Given the description of an element on the screen output the (x, y) to click on. 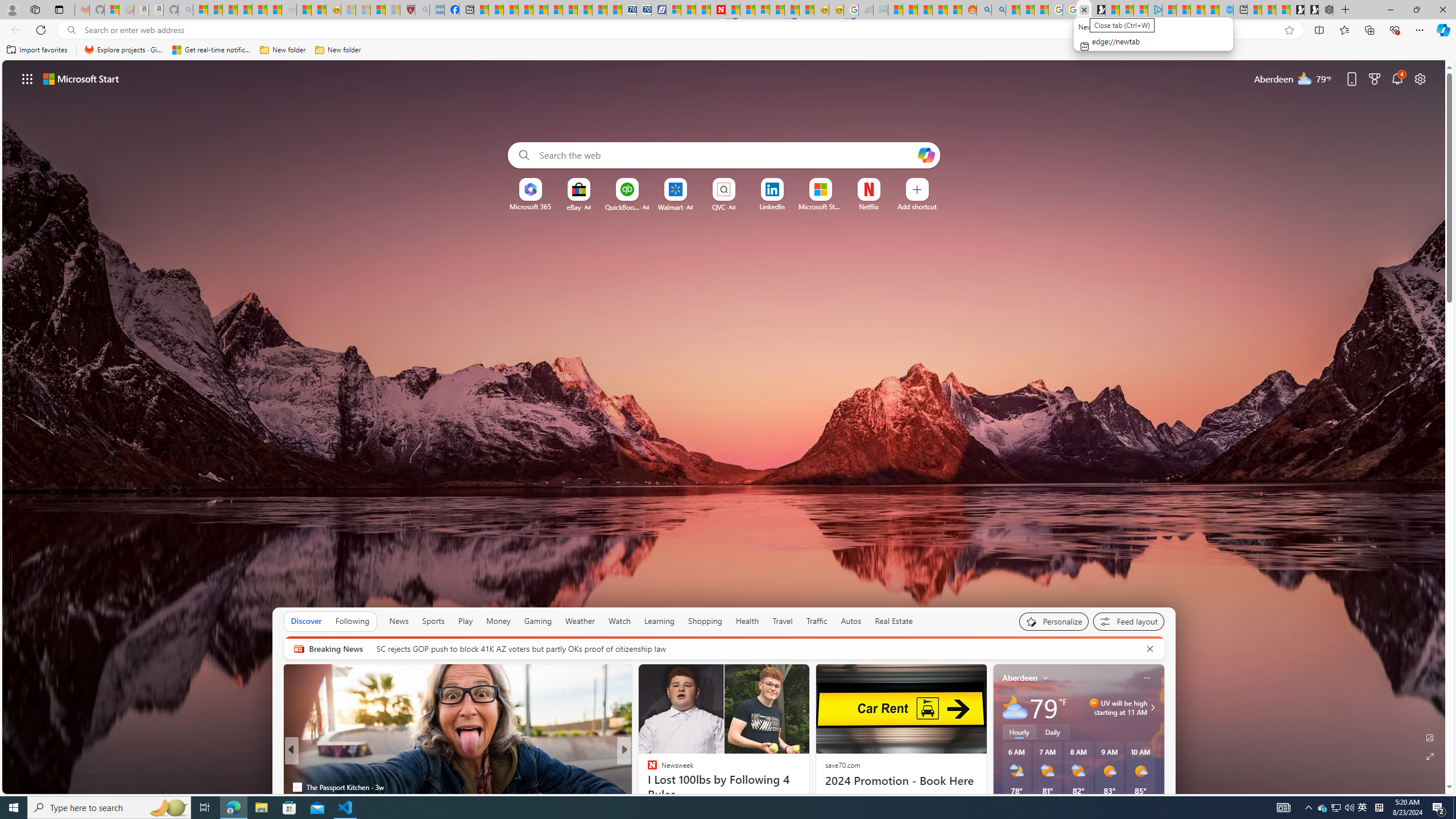
Discover (306, 621)
12 Popular Science Lies that Must be Corrected - Sleeping (392, 9)
LinkedIn (771, 206)
Mostly cloudy (1014, 707)
News (398, 621)
